Given the description of an element on the screen output the (x, y) to click on. 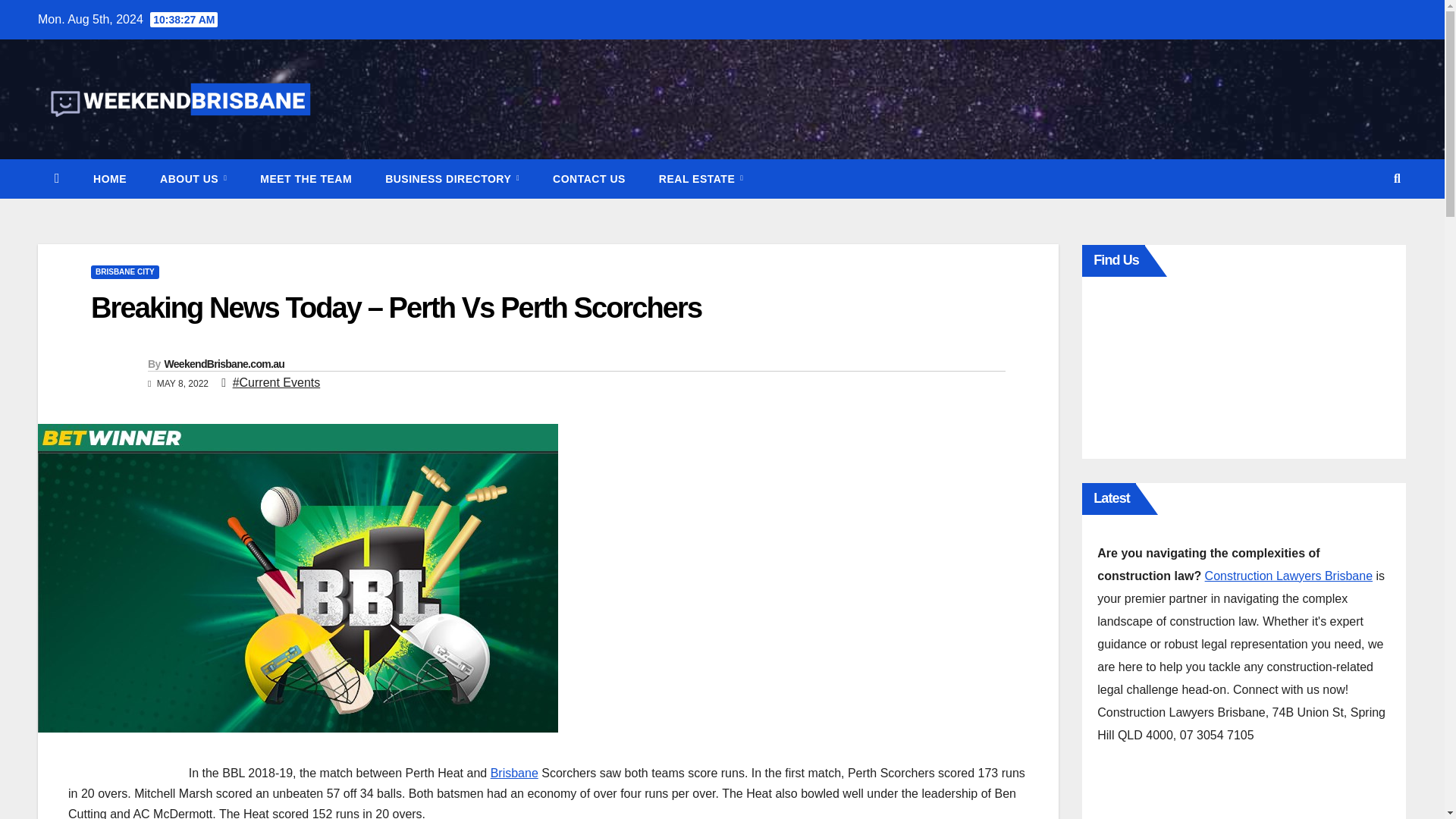
HOME (109, 178)
WeekendBrisbane.com.au (223, 363)
BUSINESS DIRECTORY (451, 178)
ABOUT US (192, 178)
Home (109, 178)
About Us (192, 178)
Real Estate (701, 178)
Contact Us (588, 178)
MEET THE TEAM (305, 178)
Meet The Team (305, 178)
BRISBANE CITY (124, 272)
Business Directory (451, 178)
CONTACT US (588, 178)
REAL ESTATE (701, 178)
Brisbane (514, 772)
